Given the description of an element on the screen output the (x, y) to click on. 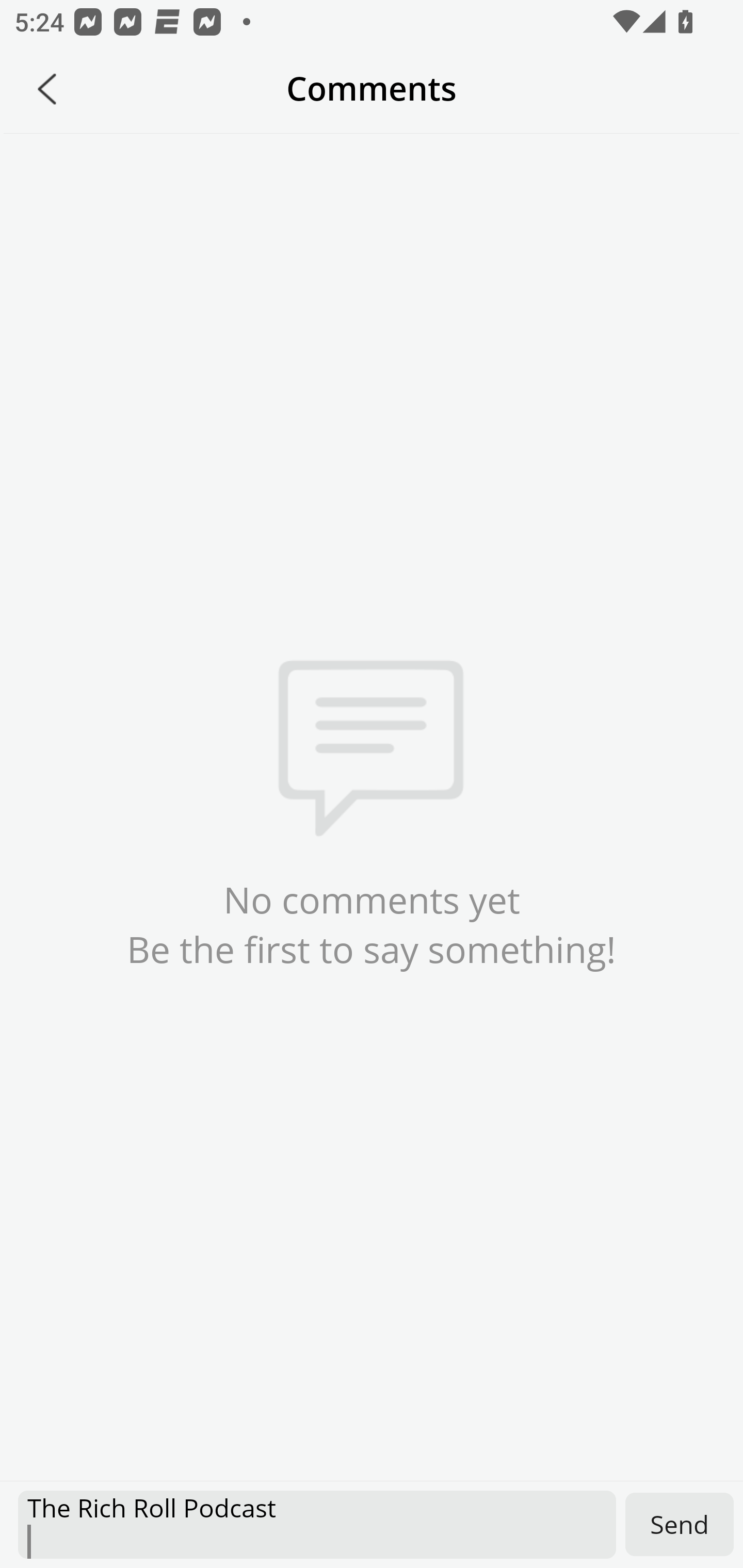
Back (46, 88)
The Rich Roll Podcast
 (316, 1524)
Send (679, 1523)
